Given the description of an element on the screen output the (x, y) to click on. 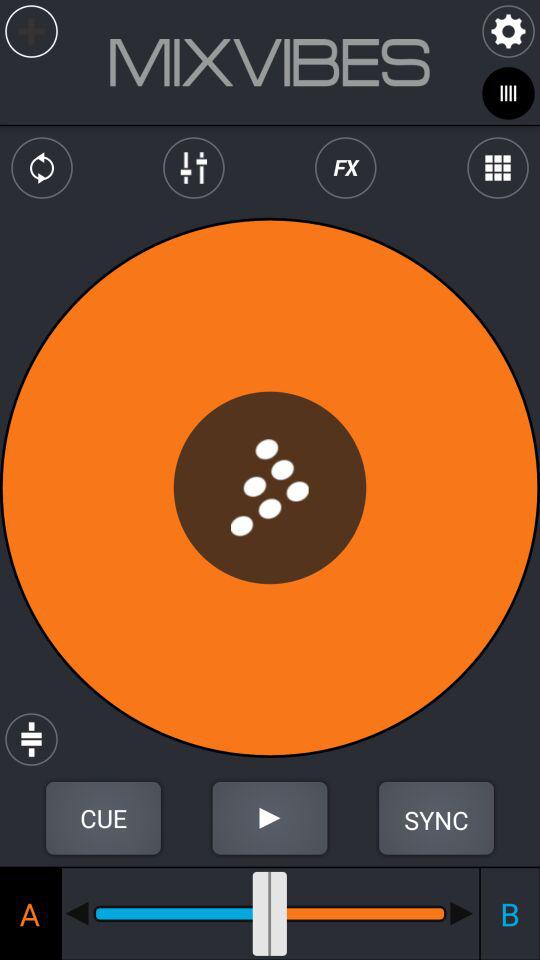
volume options (193, 167)
